Given the description of an element on the screen output the (x, y) to click on. 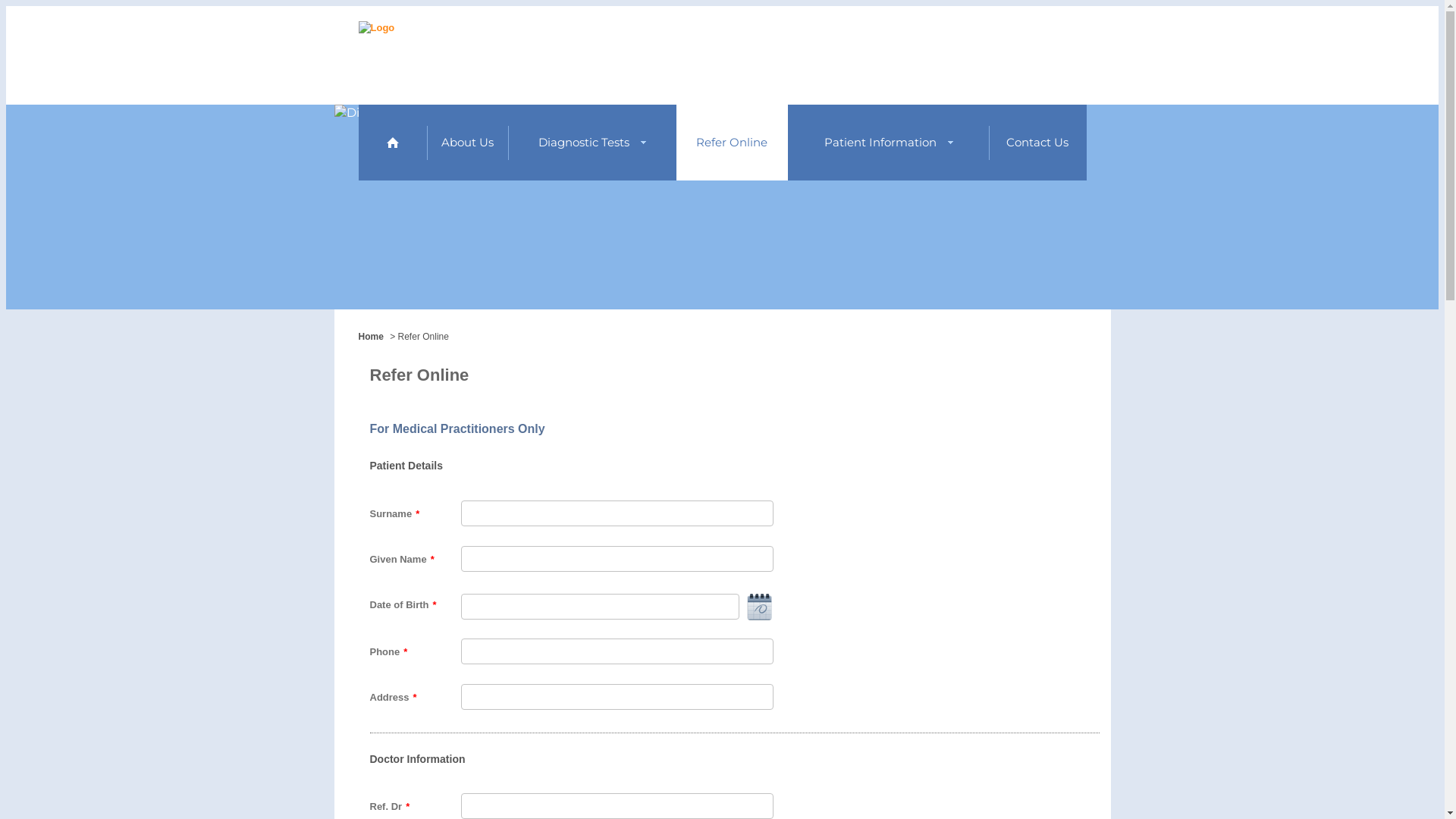
About Us Element type: text (467, 142)
Contact Us Element type: text (1036, 142)
Home Element type: text (369, 336)
Patient Information Element type: text (888, 142)
Diagnostic Tests Element type: text (592, 142)
Home Element type: text (391, 142)
checked Element type: text (4, 4)
Refer Online Element type: text (731, 142)
